Given the description of an element on the screen output the (x, y) to click on. 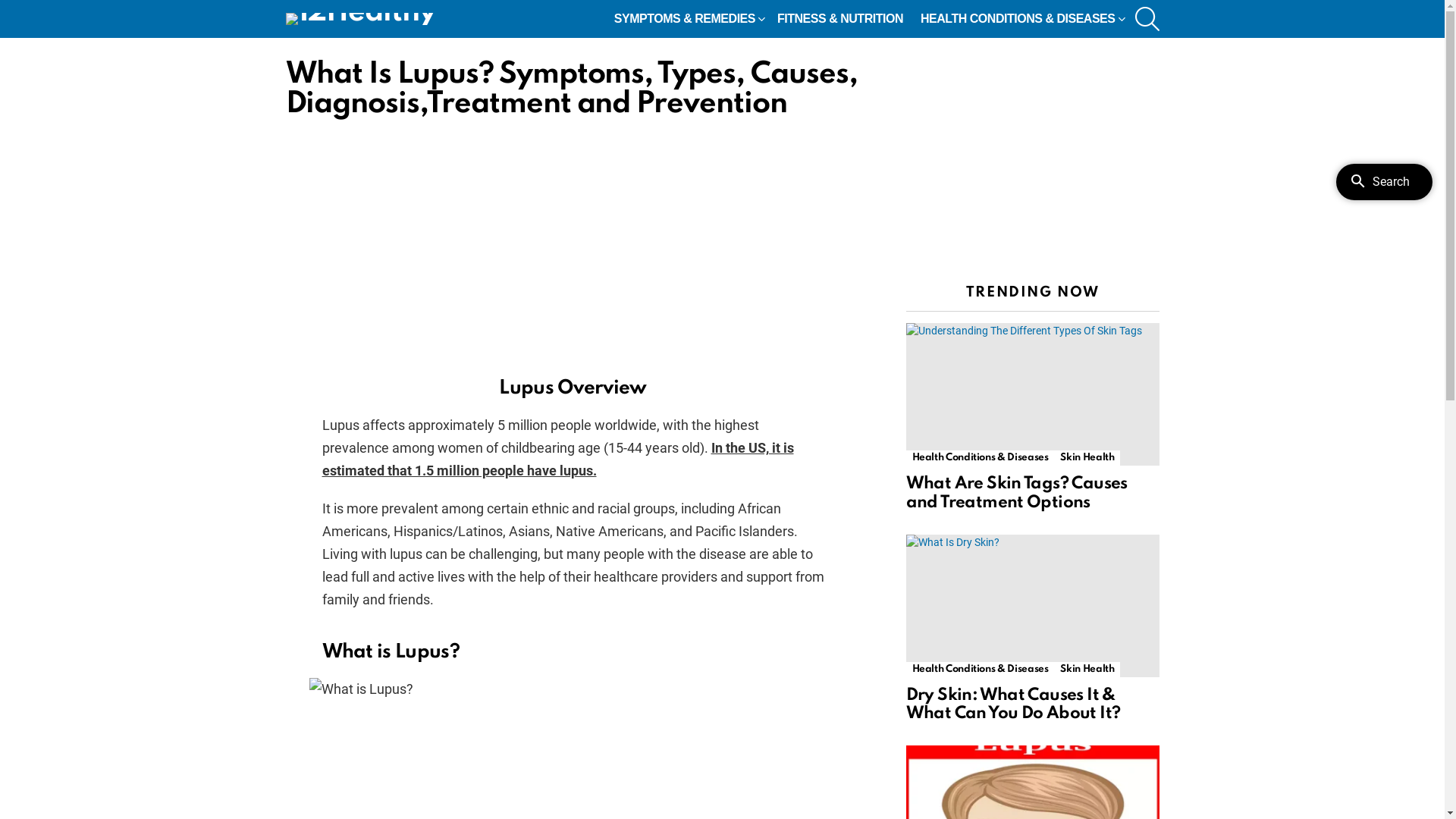
Dry Skin: What Causes It & What Can You Do About It? Element type: hover (1031, 605)
FITNESS & NUTRITION Element type: text (839, 18)
Advertisement Element type: hover (1031, 155)
Dry Skin: What Causes It & What Can You Do About It? Element type: text (1012, 704)
Advertisement Element type: hover (572, 240)
What Are Skin Tags? Causes and Treatment Options Element type: hover (1031, 394)
SEARCH Element type: text (1146, 18)
SYMPTOMS & REMEDIES Element type: text (686, 18)
Health Conditions & Diseases Element type: text (979, 669)
HEALTH CONDITIONS & DISEASES Element type: text (1020, 18)
What Are Skin Tags? Causes and Treatment Options Element type: text (1015, 492)
Skin Health Element type: text (1087, 457)
Health Conditions & Diseases Element type: text (979, 457)
Skin Health Element type: text (1087, 669)
